Given the description of an element on the screen output the (x, y) to click on. 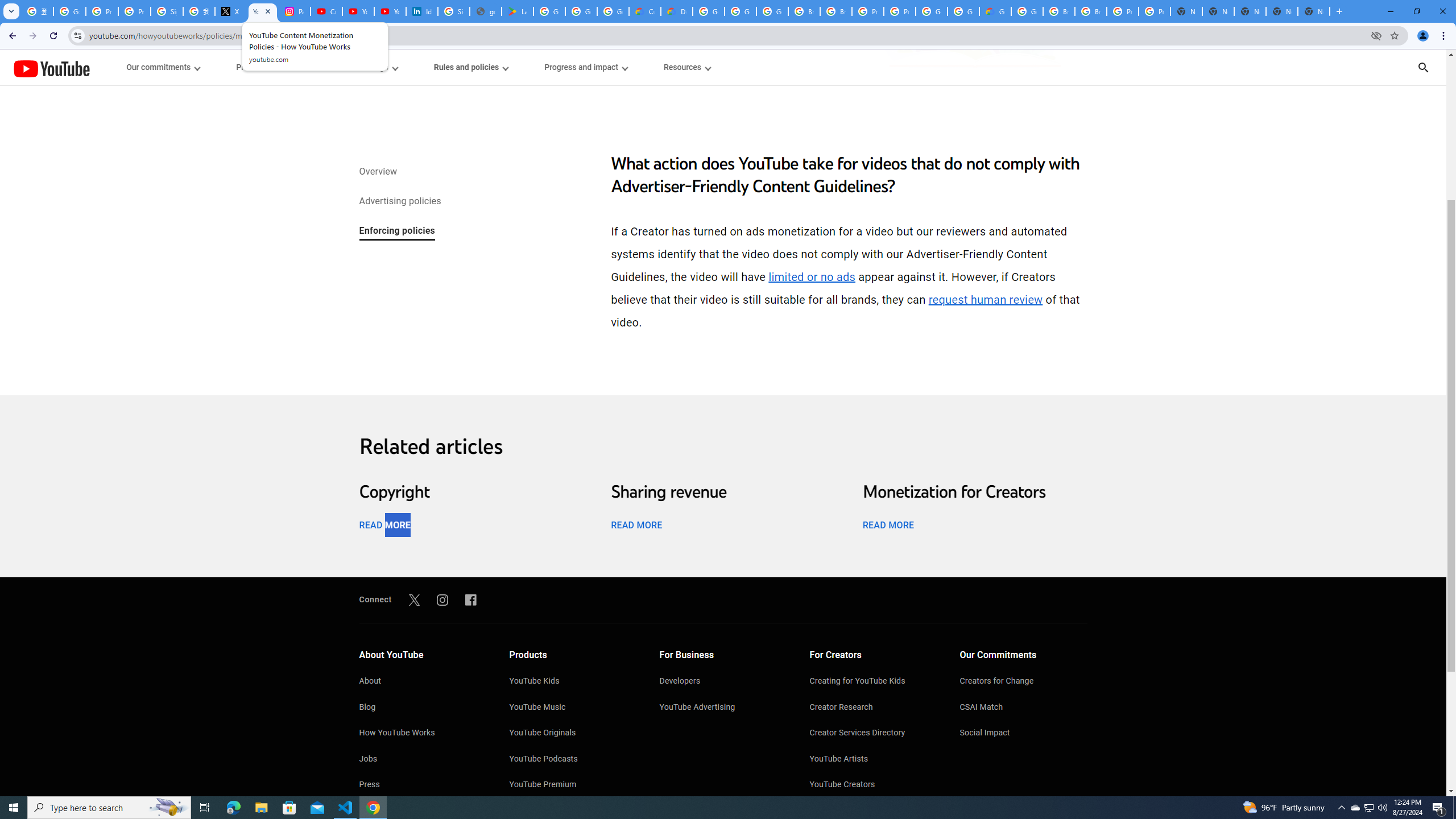
Google Cloud Platform (931, 11)
Third-party cookies blocked (1376, 35)
Privacy Help Center - Policies Help (101, 11)
View site information (77, 35)
Resources menupopup (686, 67)
Search (1423, 67)
Enforcing policies (396, 231)
Google Cloud Platform (708, 11)
Search tabs (10, 11)
YouTube Content Monetization Policies - How YouTube Works (262, 11)
Creating for YouTube Kids (873, 682)
Minimize (1390, 11)
